Given the description of an element on the screen output the (x, y) to click on. 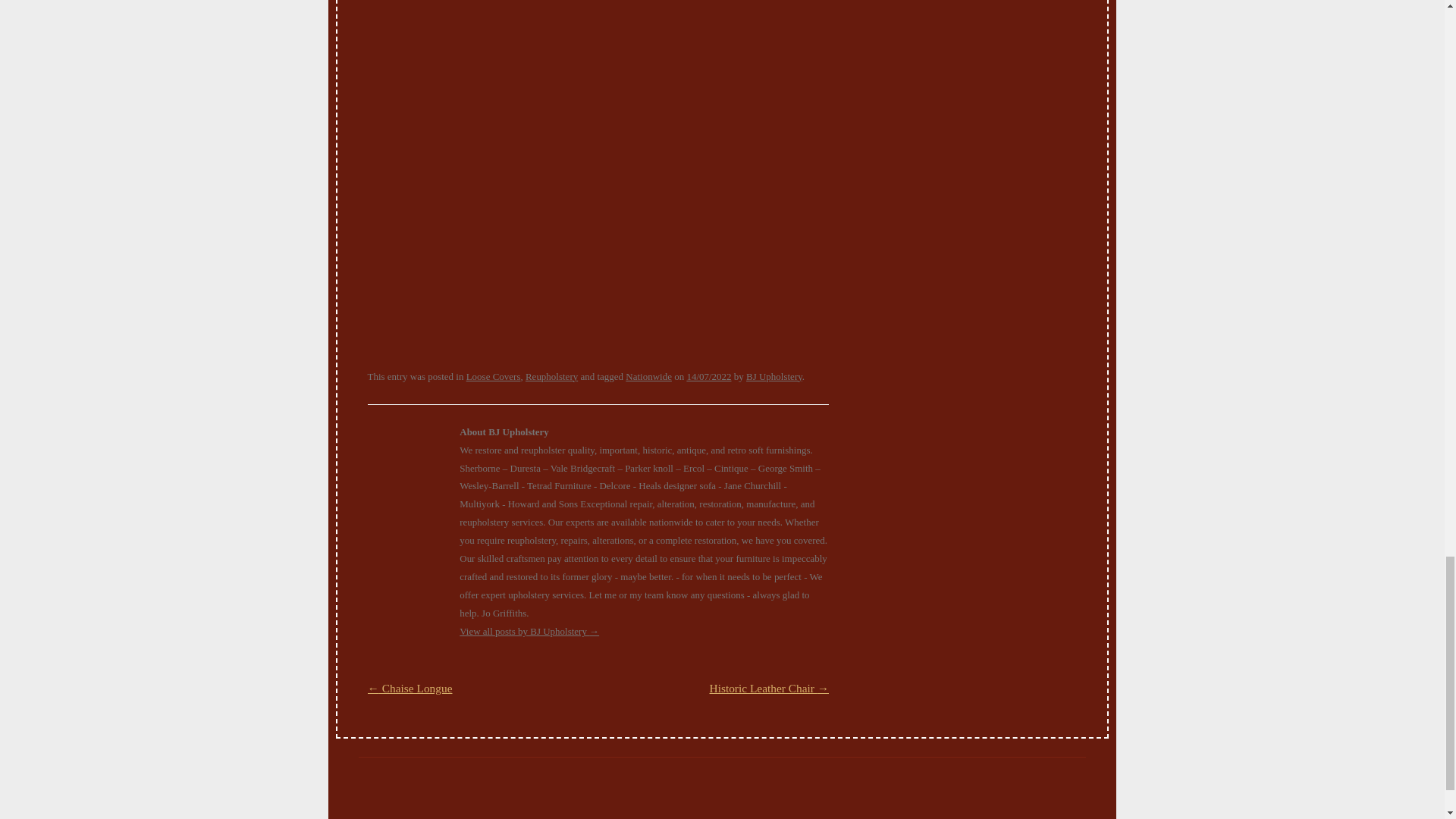
View all posts by BJ Upholstery (773, 376)
Nationwide (648, 376)
BJ Upholstery (773, 376)
Loose Covers (493, 376)
Reupholstery (551, 376)
10:16 am (707, 376)
